Given the description of an element on the screen output the (x, y) to click on. 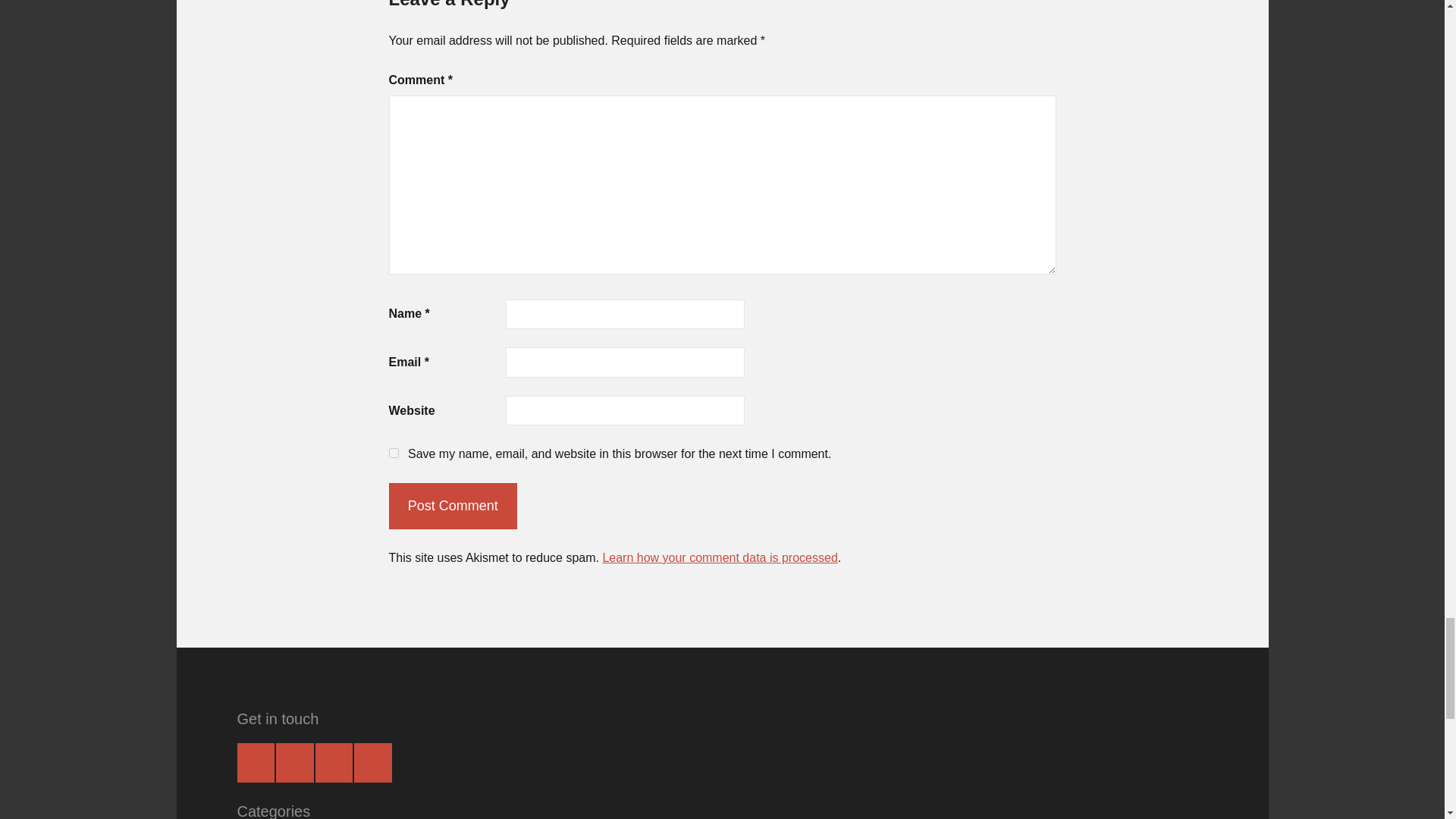
yes (392, 452)
Post Comment (452, 505)
Post Comment (452, 505)
Facebook (255, 762)
Email (372, 762)
Learn how your comment data is processed (719, 557)
Instagram (295, 762)
Twitter (334, 762)
